Given the description of an element on the screen output the (x, y) to click on. 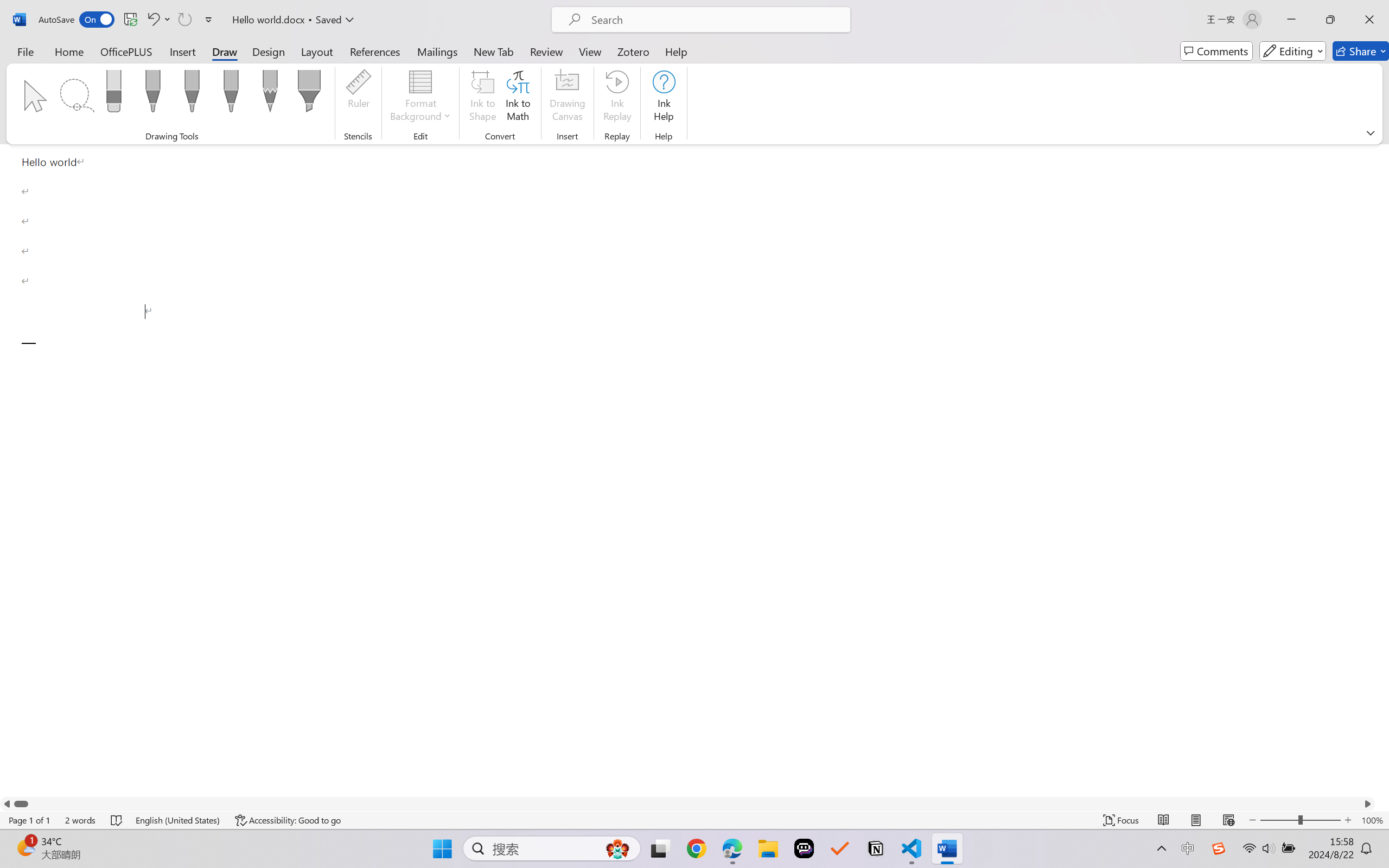
Microsoft search (715, 19)
Zoom (1300, 819)
Save (130, 19)
Print Layout (1196, 819)
Focus  (1121, 819)
Restore Down (1330, 19)
Editing (1292, 50)
Ink Help (663, 97)
Minimize (1291, 19)
Ruler (358, 97)
Close (1369, 19)
Web Layout (1228, 819)
Insert (182, 51)
